Given the description of an element on the screen output the (x, y) to click on. 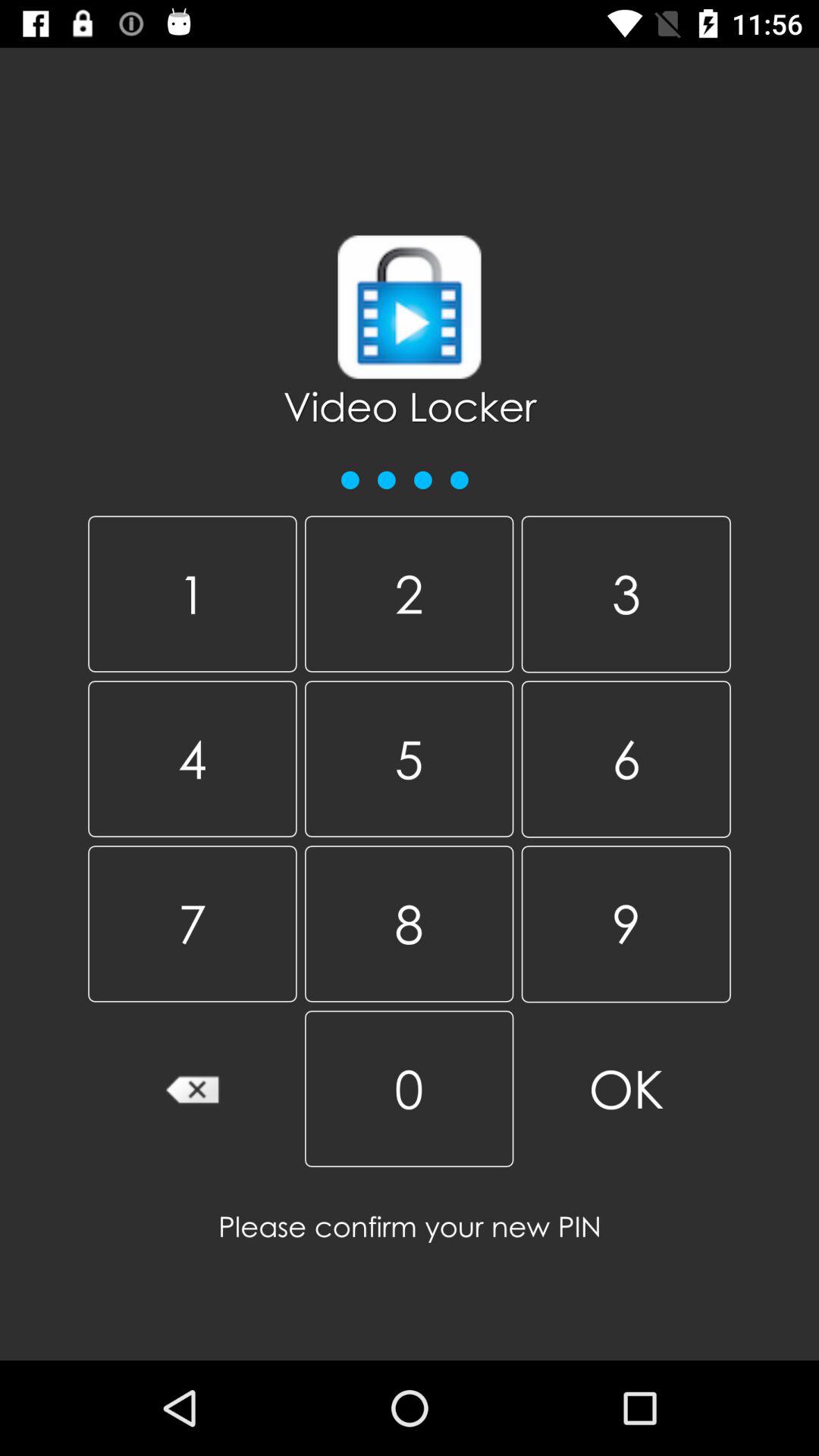
press 7 item (192, 923)
